Given the description of an element on the screen output the (x, y) to click on. 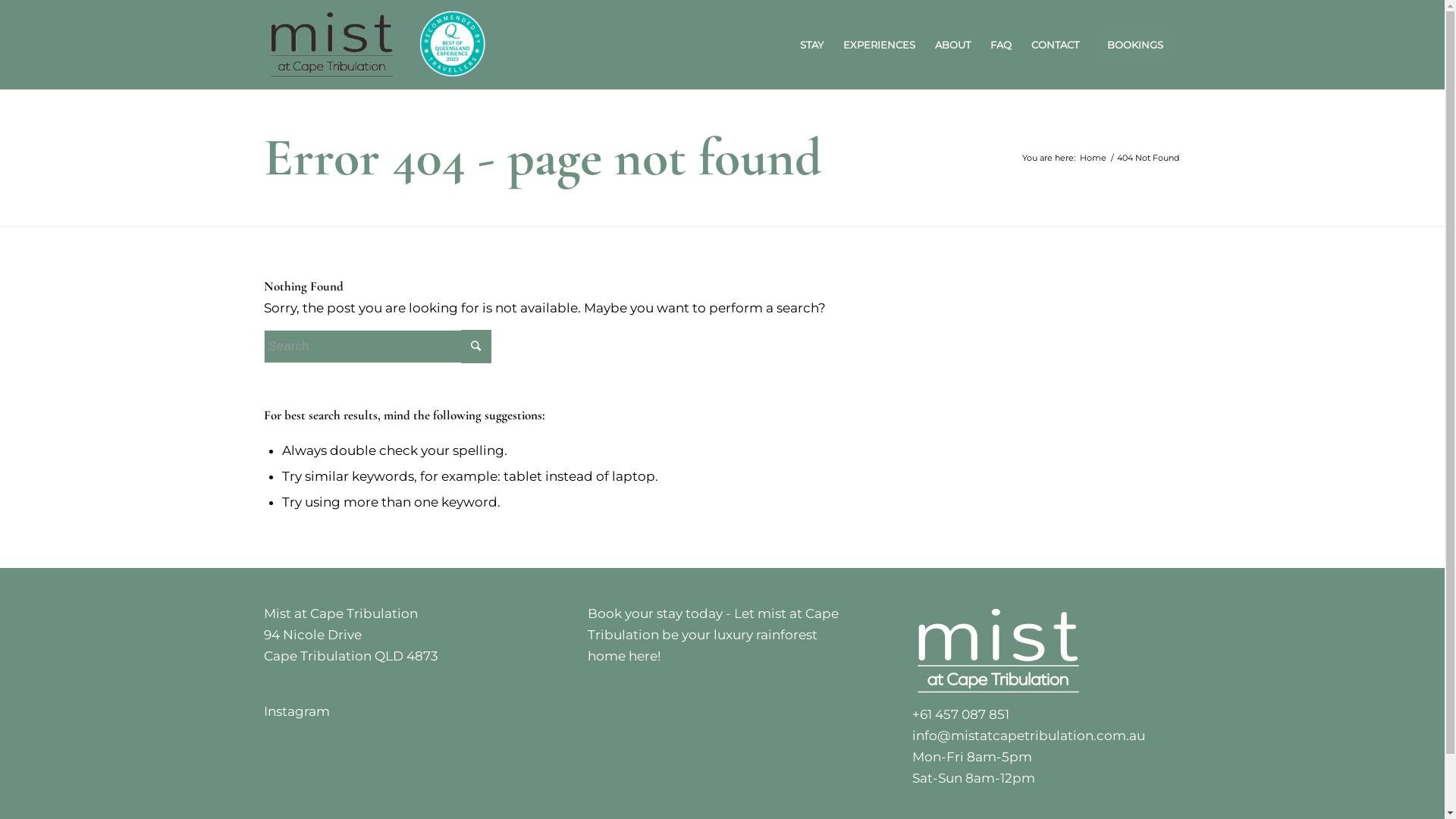
ABOUT Element type: text (952, 44)
EXPERIENCES Element type: text (878, 44)
Instagram Element type: text (296, 710)
FAQ Element type: text (999, 44)
BOOKINGS Element type: text (1134, 44)
here! Element type: text (644, 655)
STAY Element type: text (811, 44)
info@mistatcapetribulation.com.au Element type: text (1028, 735)
CONTACT Element type: text (1054, 44)
+61 457 087 851 Element type: text (960, 713)
Home Element type: text (1091, 157)
